Given the description of an element on the screen output the (x, y) to click on. 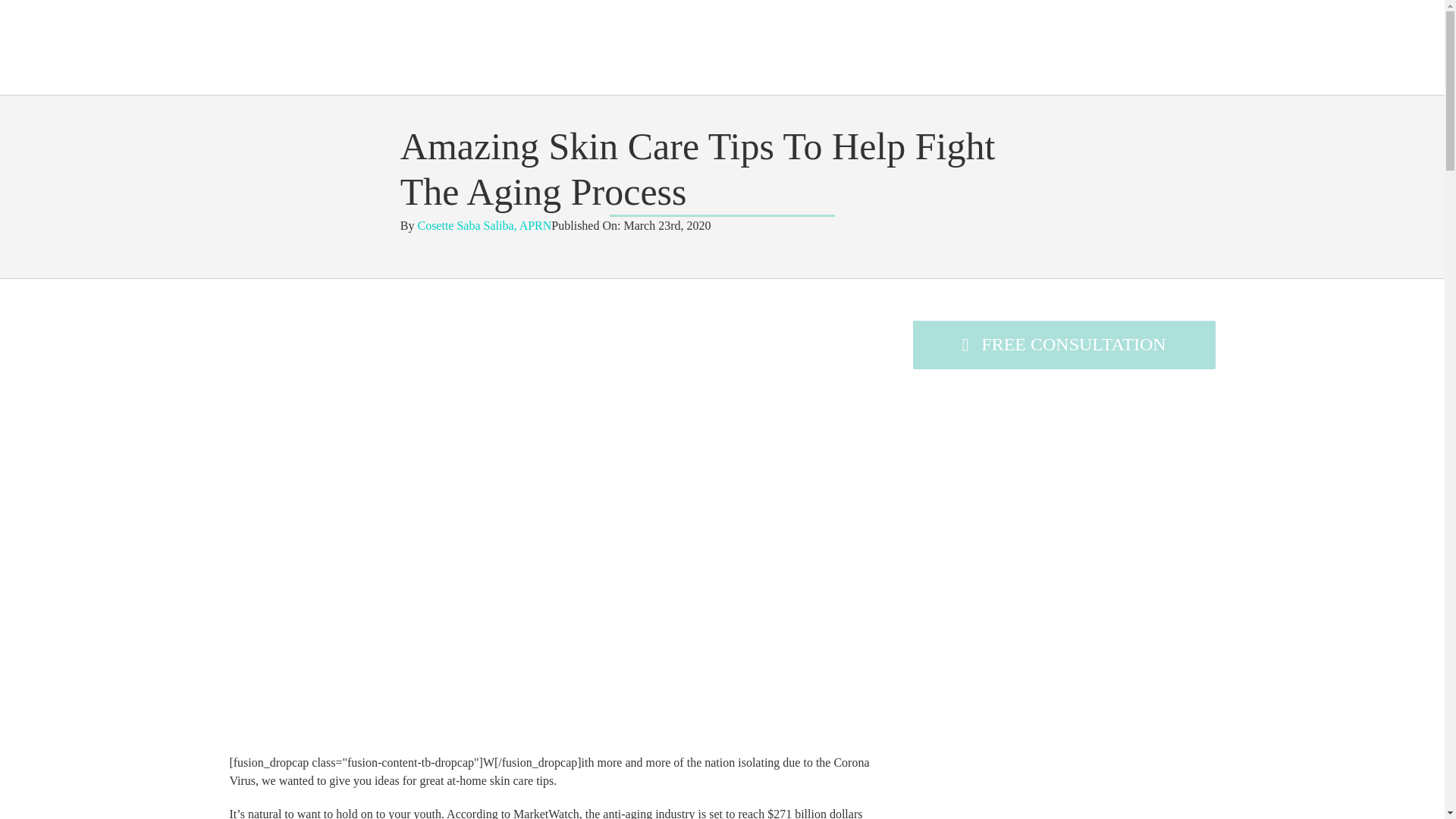
home-skin-care (550, 326)
Posts by Cosette Saba Saliba, APRN (483, 225)
